Given the description of an element on the screen output the (x, y) to click on. 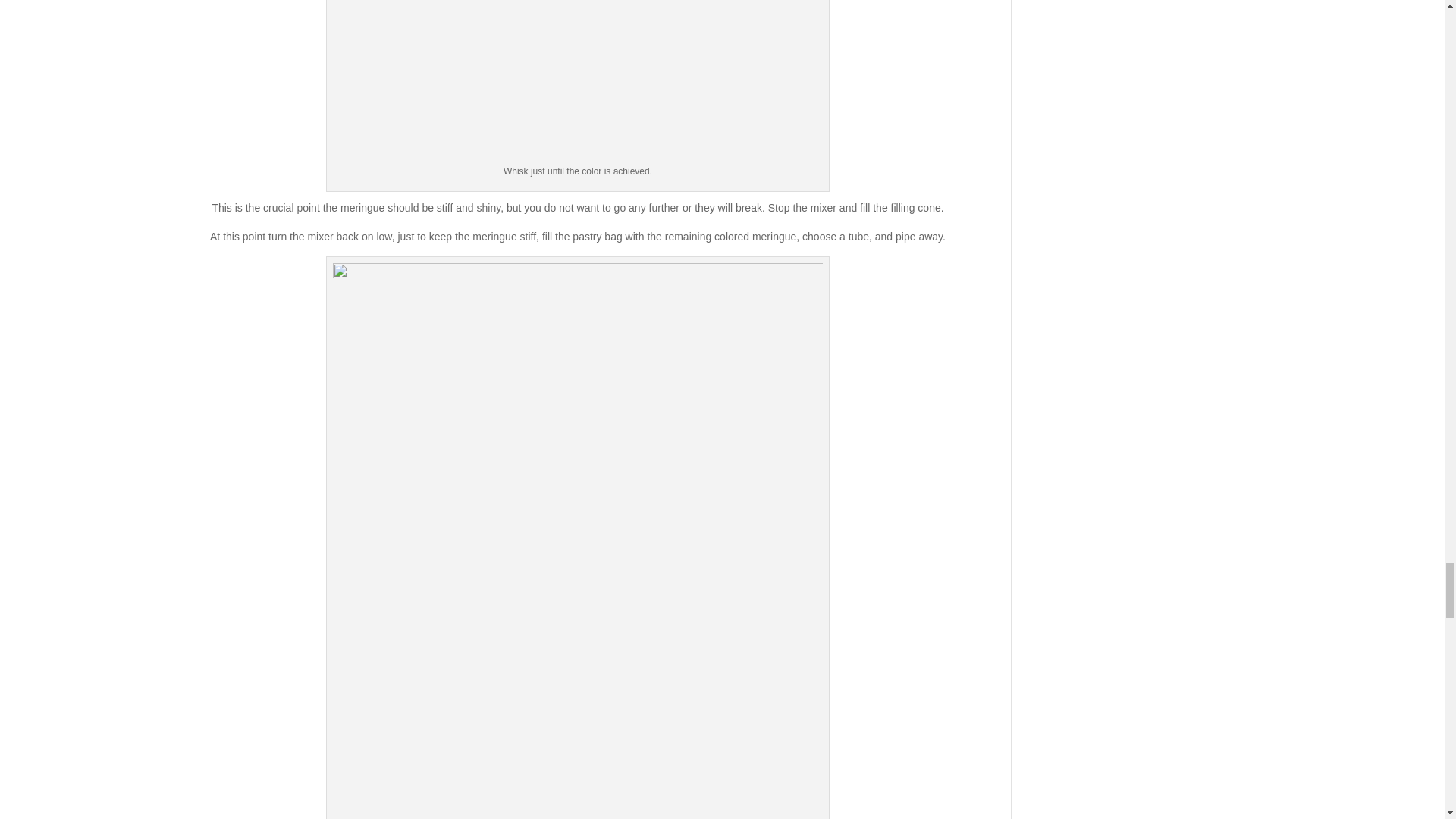
meringuecolorant2204 (577, 81)
